Given the description of an element on the screen output the (x, y) to click on. 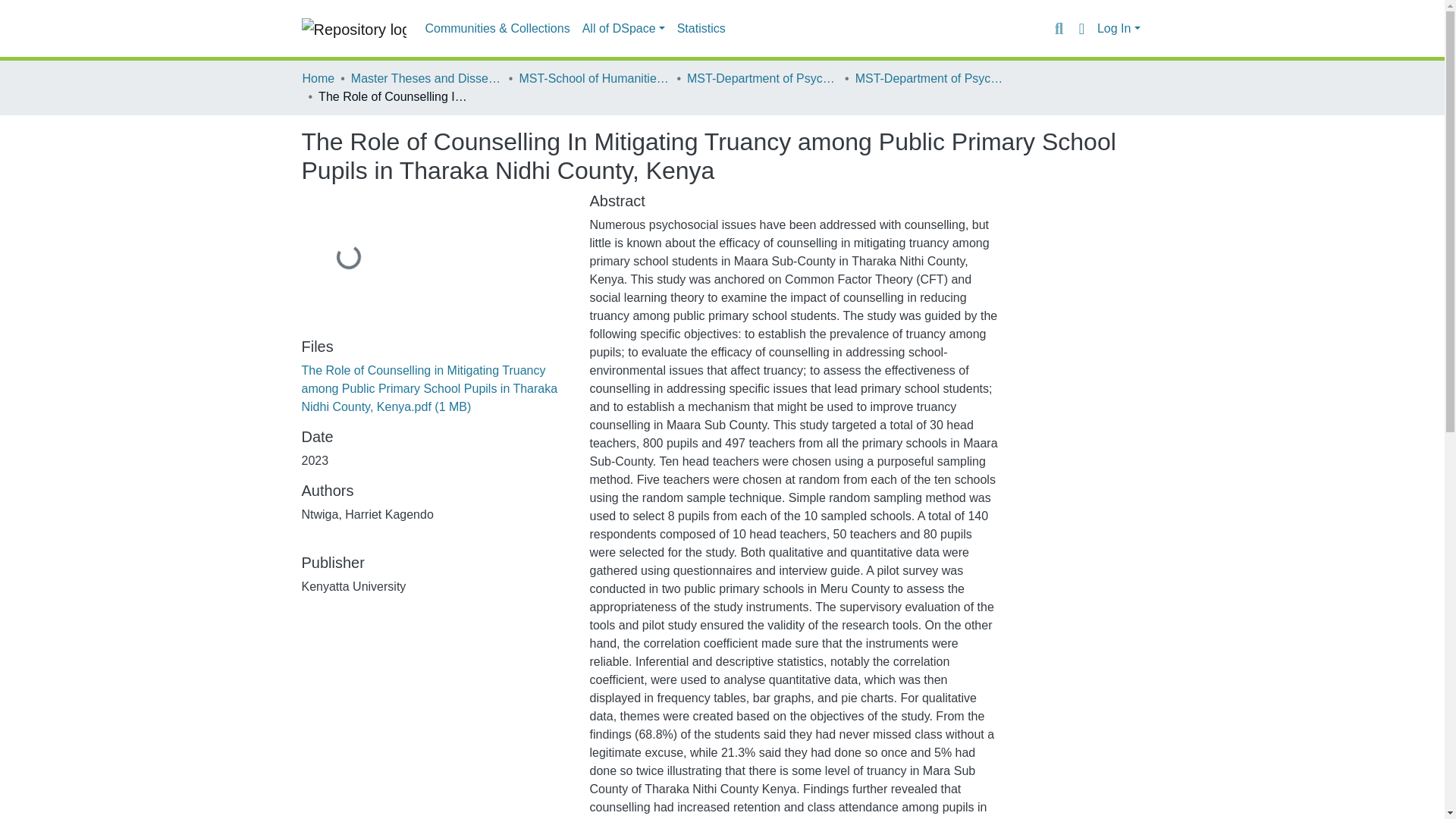
MST-School of Humanities and Social Sciences (593, 78)
Statistics (701, 28)
MST-Department of Psychology (762, 78)
Home (317, 78)
Statistics (701, 28)
Language switch (1081, 28)
All of DSpace (623, 28)
MST-Department of Psychology (931, 78)
Log In (1118, 28)
Search (1058, 28)
